Given the description of an element on the screen output the (x, y) to click on. 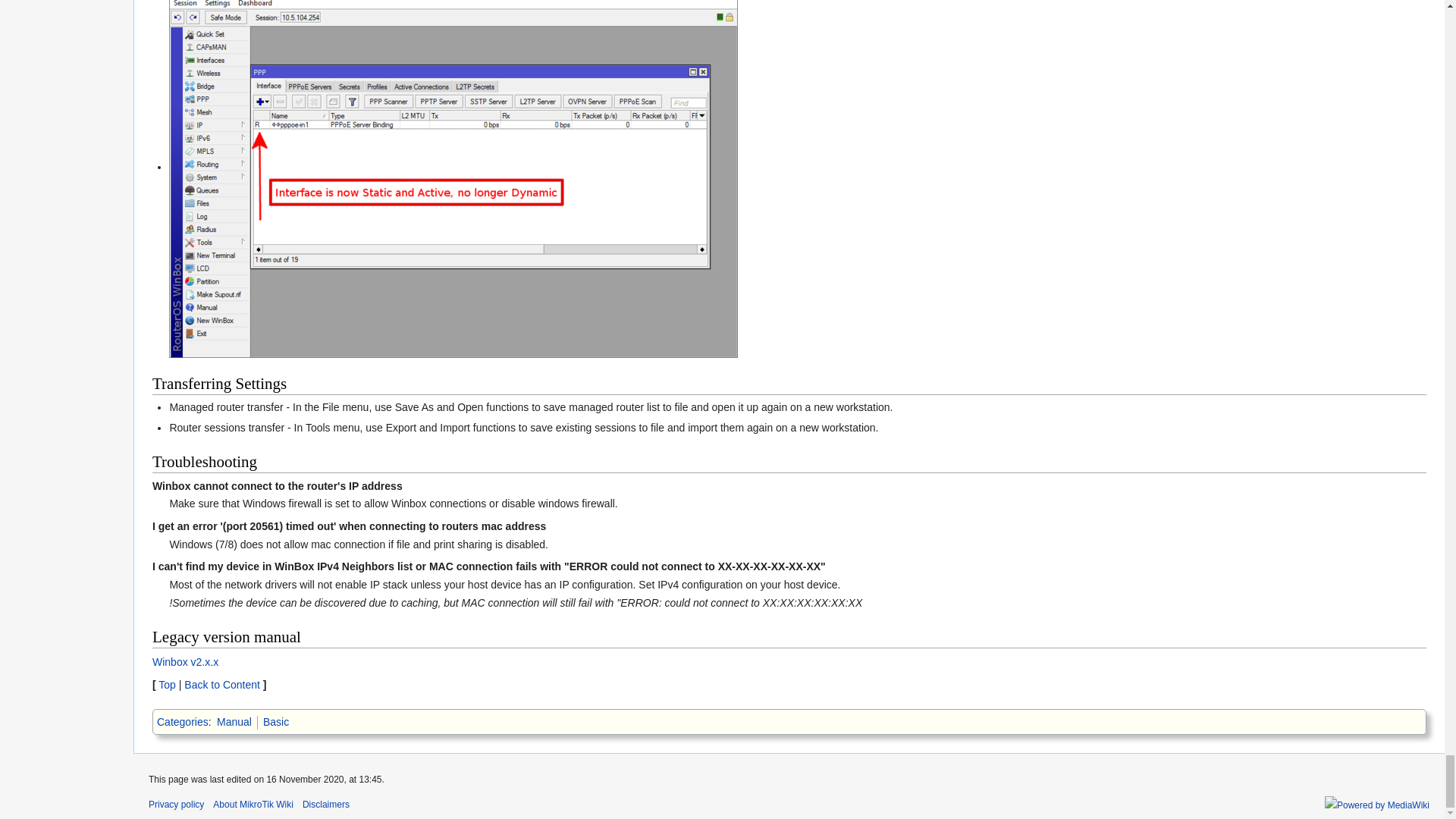
Manual:Winbox v2.x (185, 662)
Category:Basic (275, 721)
Manual:TOC (222, 684)
Special:Categories (182, 721)
Category:Manual (233, 721)
